Given the description of an element on the screen output the (x, y) to click on. 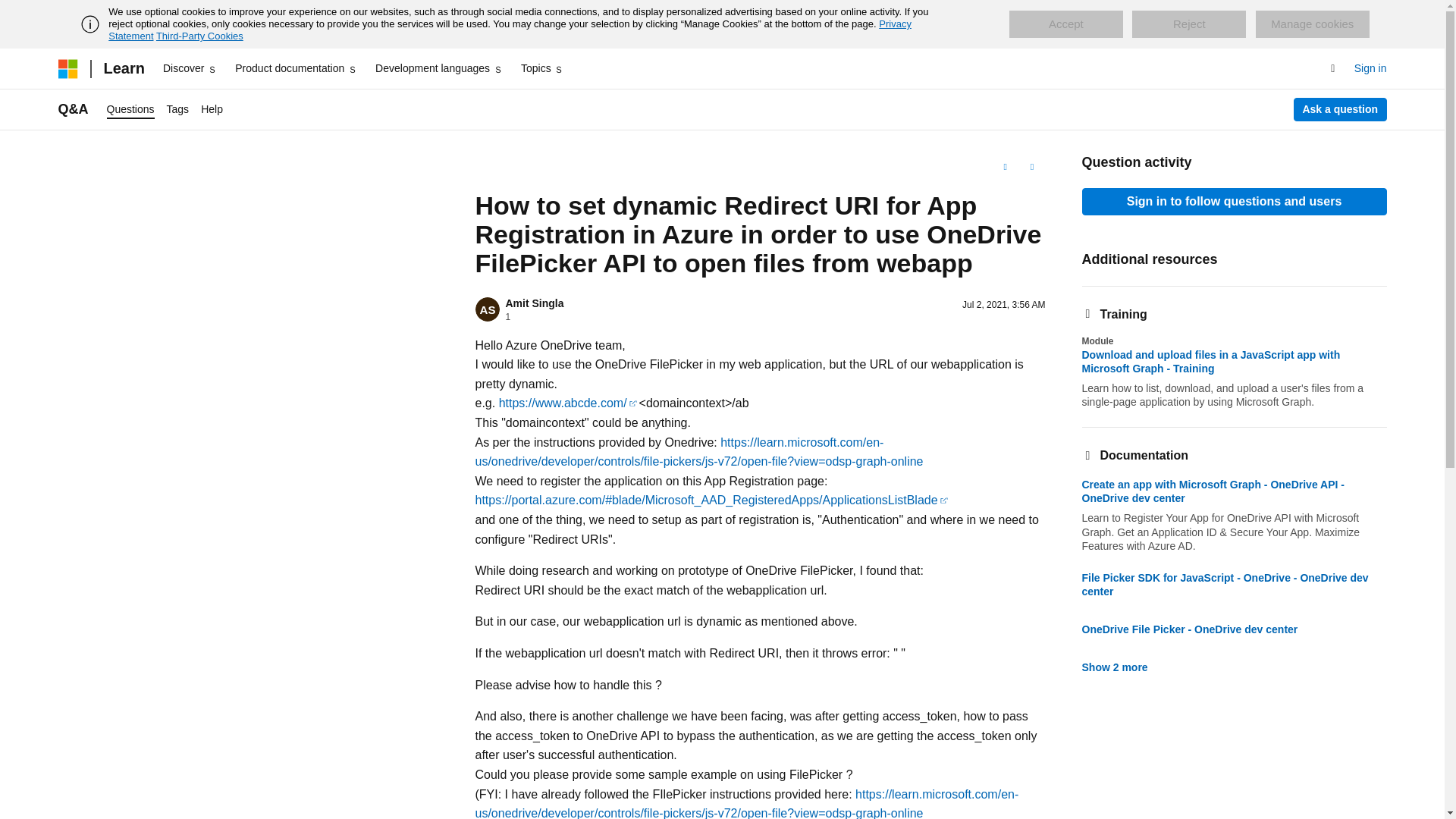
Privacy Statement (509, 29)
Learn (123, 68)
Development languages (438, 68)
Questions (130, 109)
Product documentation (295, 68)
Amit Singla (534, 303)
Ask a question (1340, 109)
Discover (189, 68)
Skip to main content (11, 11)
Reject (1189, 23)
